Given the description of an element on the screen output the (x, y) to click on. 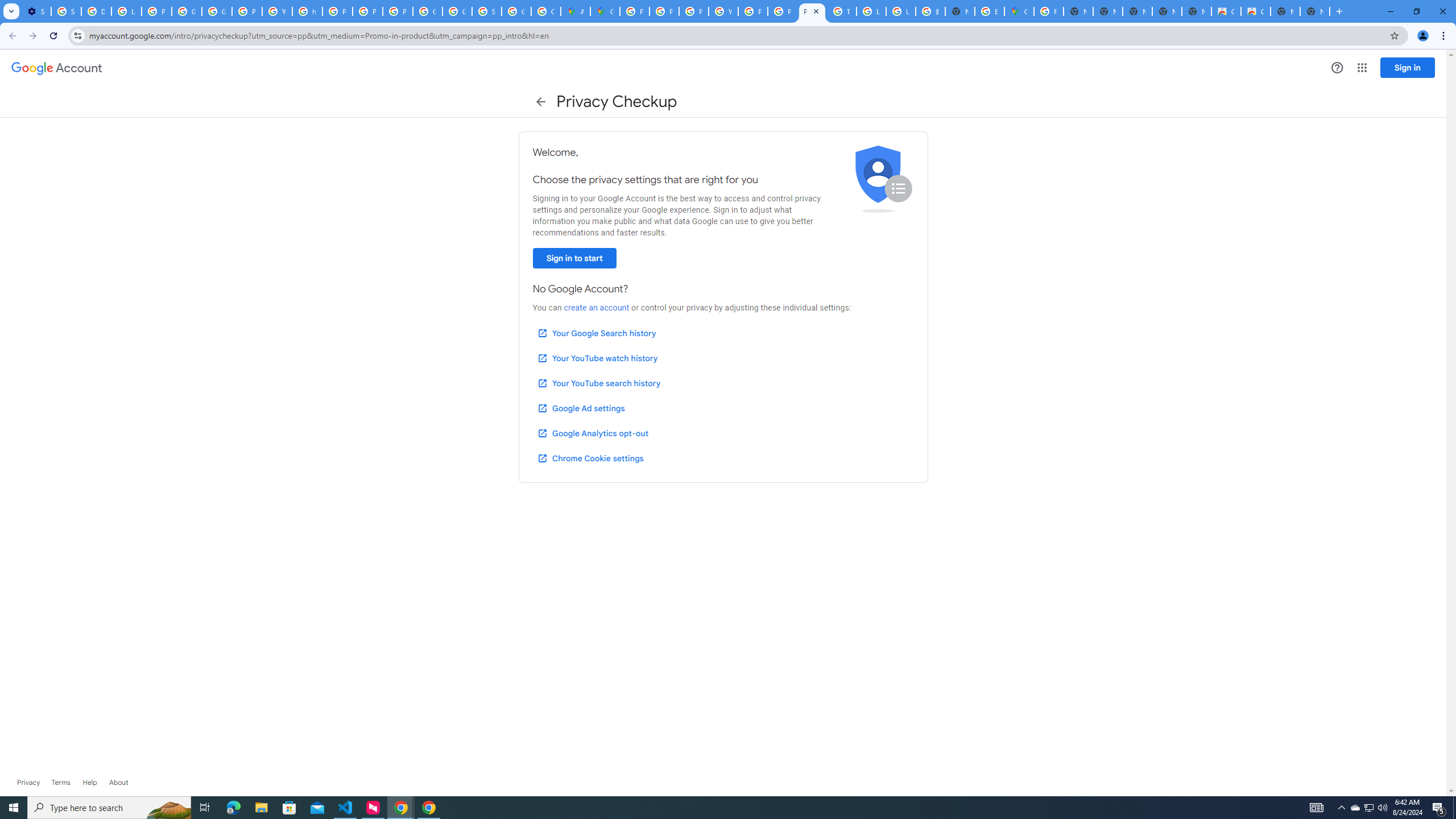
YouTube (277, 11)
Privacy Help Center - Policies Help (693, 11)
Learn more about Google Account (118, 782)
Google Maps (1018, 11)
Google Account Help (185, 11)
create an account (595, 307)
New Tab (1314, 11)
New Tab (959, 11)
